Given the description of an element on the screen output the (x, y) to click on. 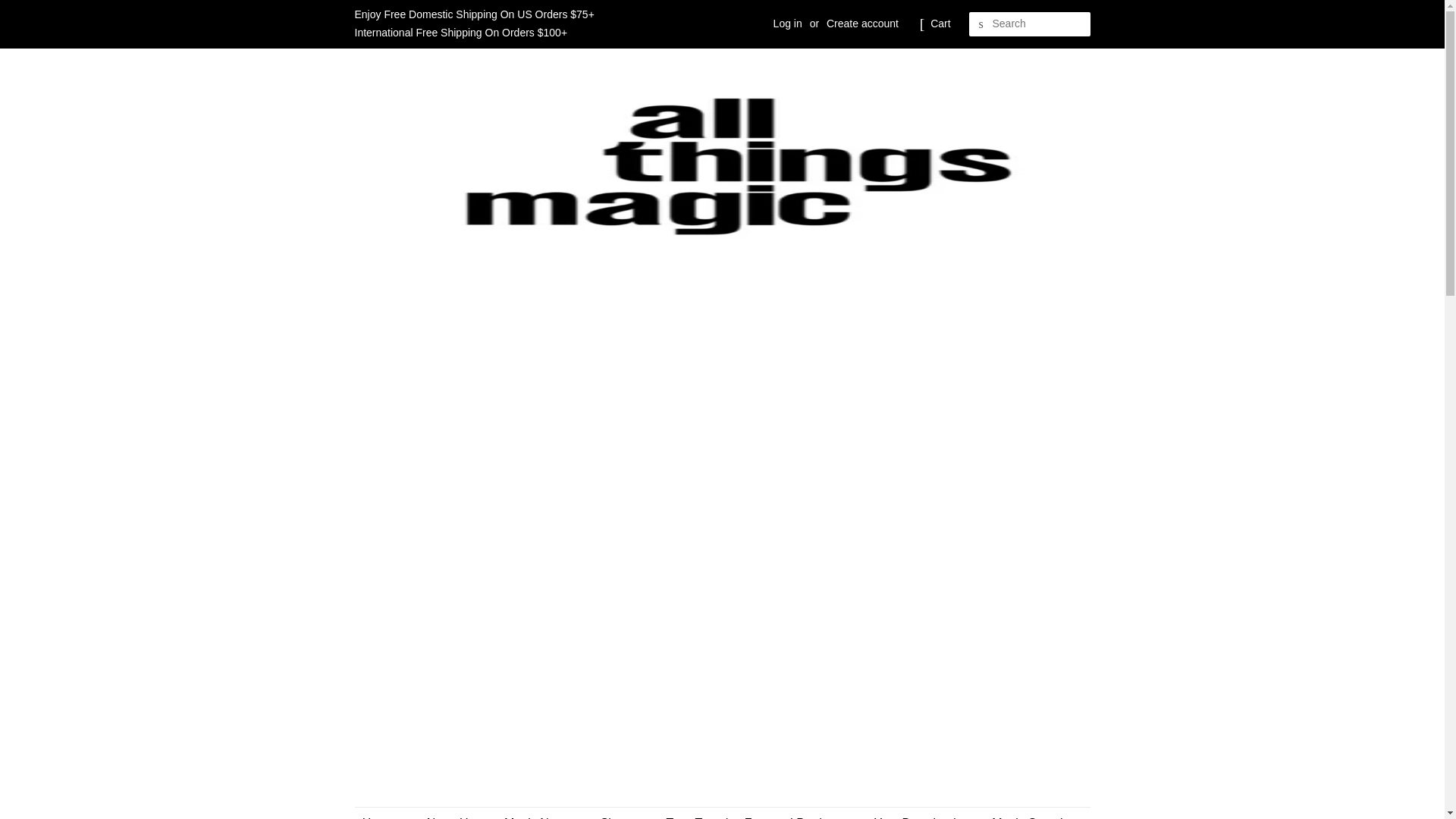
Your Downloads (919, 813)
Search (980, 24)
Magic Questions (1030, 813)
Magic News (539, 813)
Log in (787, 23)
Cart (940, 24)
Shop (619, 813)
Create account (862, 23)
Home (386, 813)
About Us (451, 813)
